Given the description of an element on the screen output the (x, y) to click on. 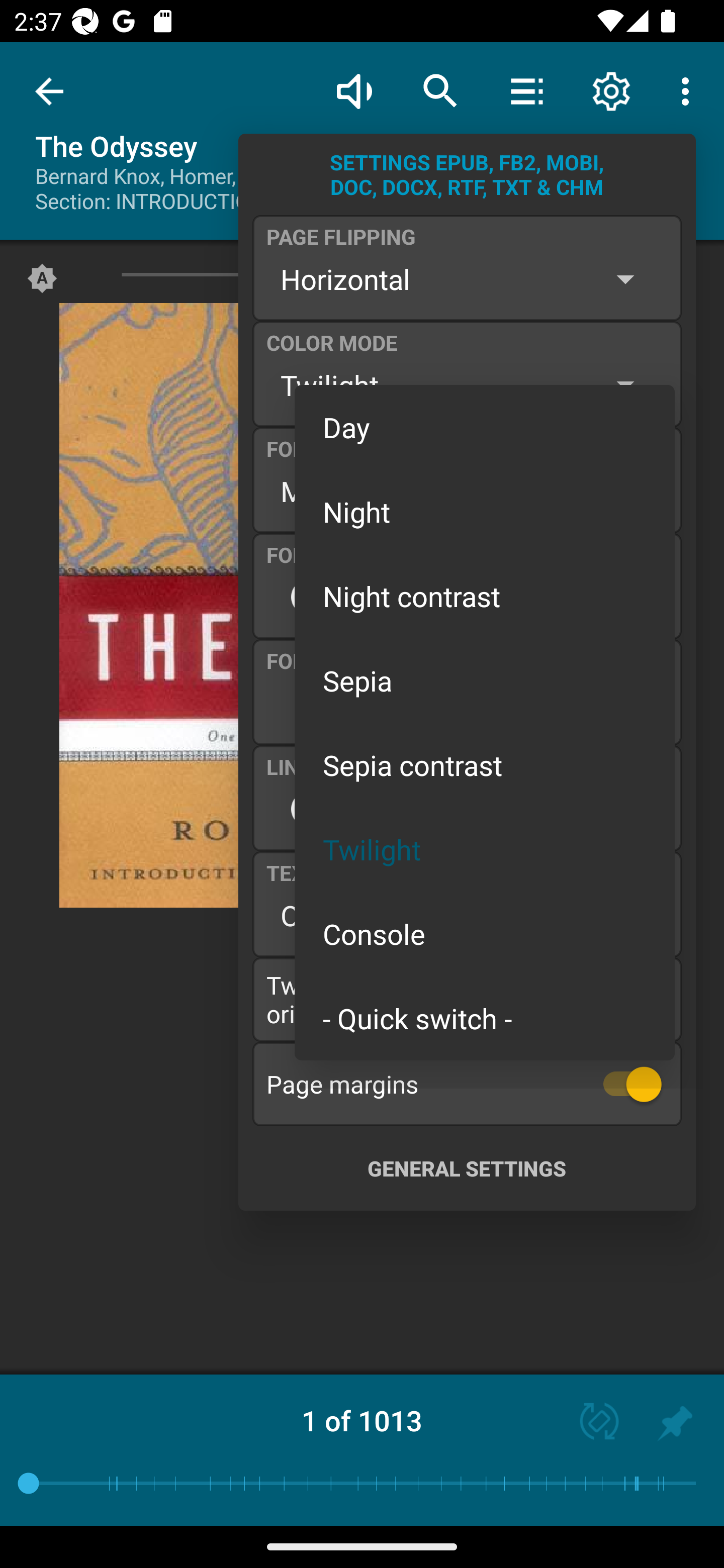
Day (484, 426)
Night (484, 510)
Night contrast (484, 595)
Sepia (484, 680)
Sepia contrast (484, 764)
Twilight (484, 849)
Console (484, 933)
- Quick switch - (484, 1017)
